Given the description of an element on the screen output the (x, y) to click on. 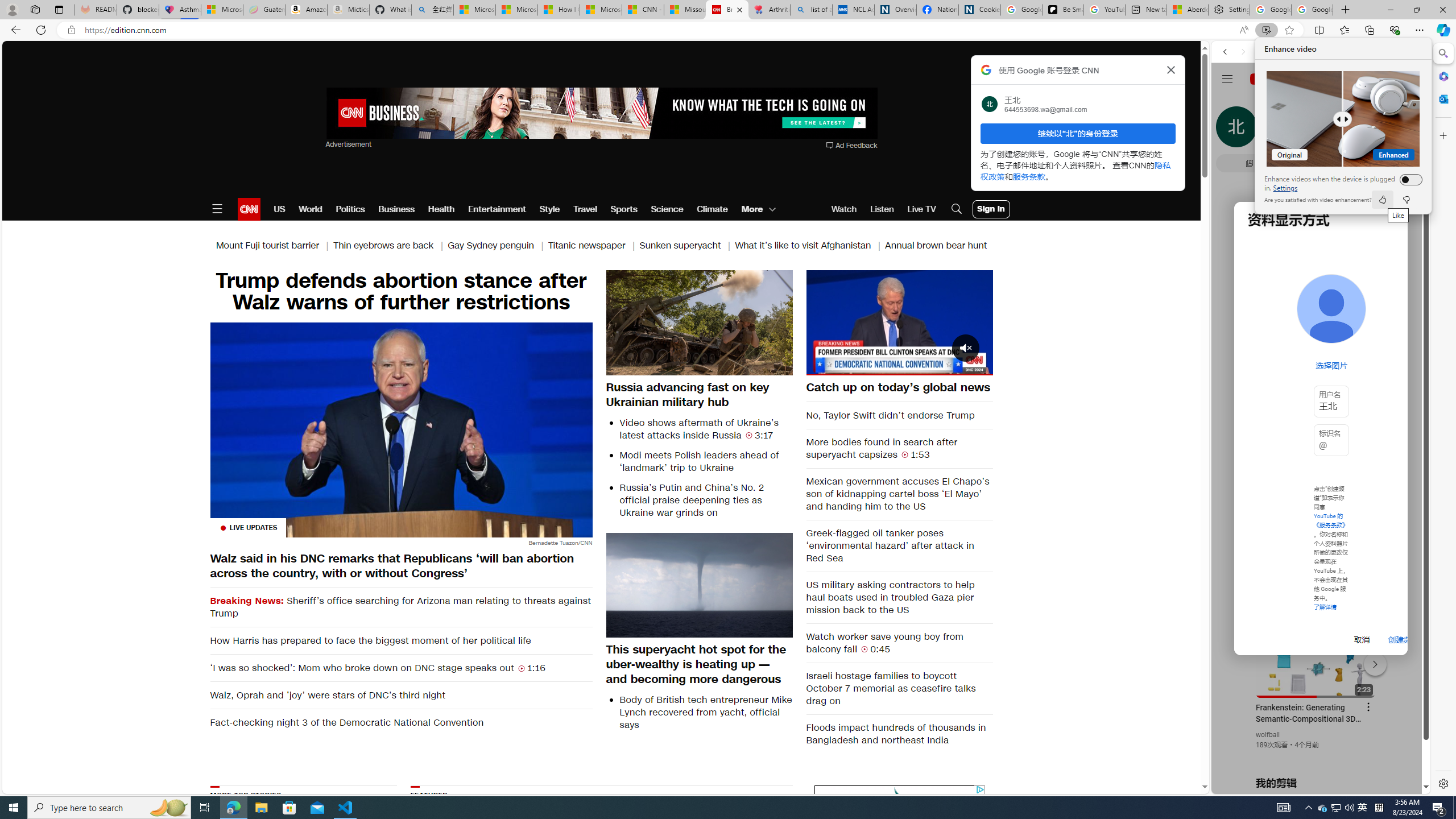
AutomationID: aw0 (600, 113)
Climate (712, 209)
Listen (881, 208)
Captions Unavailable (927, 365)
Type here to search (108, 807)
Running applications (700, 807)
CNN logo (248, 209)
Search Icon (956, 208)
